Given the description of an element on the screen output the (x, y) to click on. 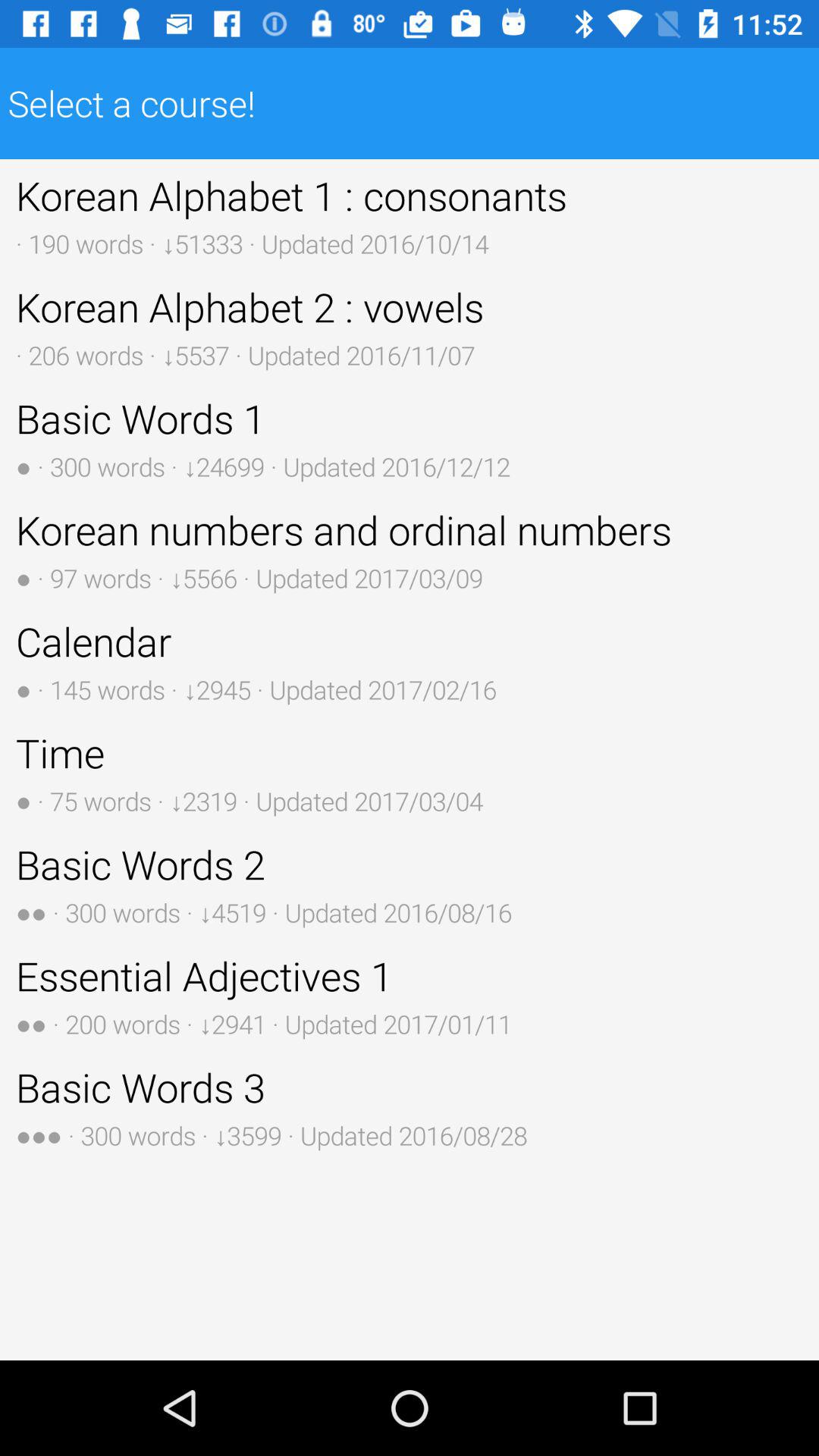
press the button above time 75 words button (409, 660)
